Given the description of an element on the screen output the (x, y) to click on. 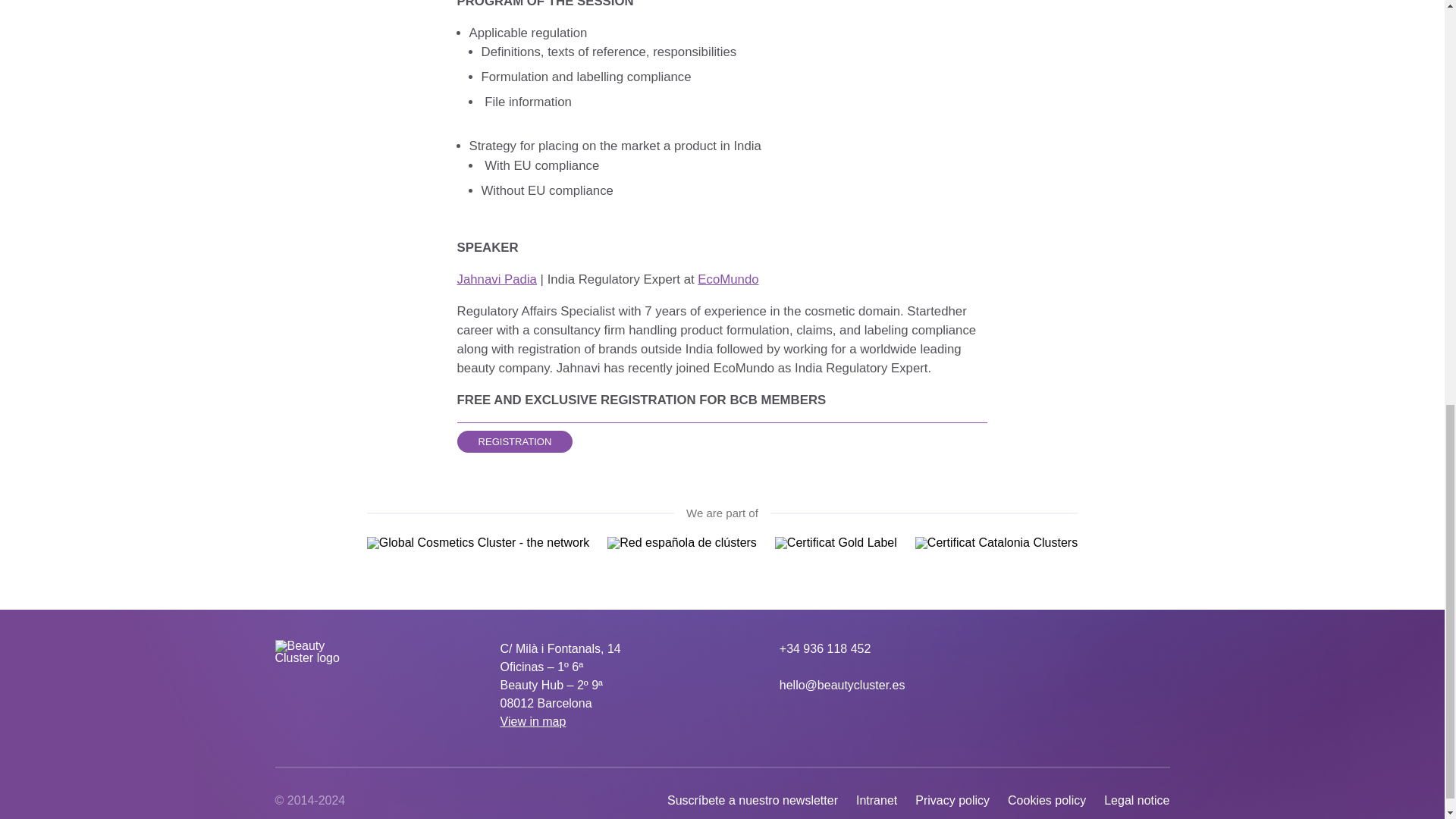
Instagram (1129, 648)
Feed (1160, 648)
Youtube (1099, 648)
Linkedin (1038, 648)
Twitter (1068, 648)
